Given the description of an element on the screen output the (x, y) to click on. 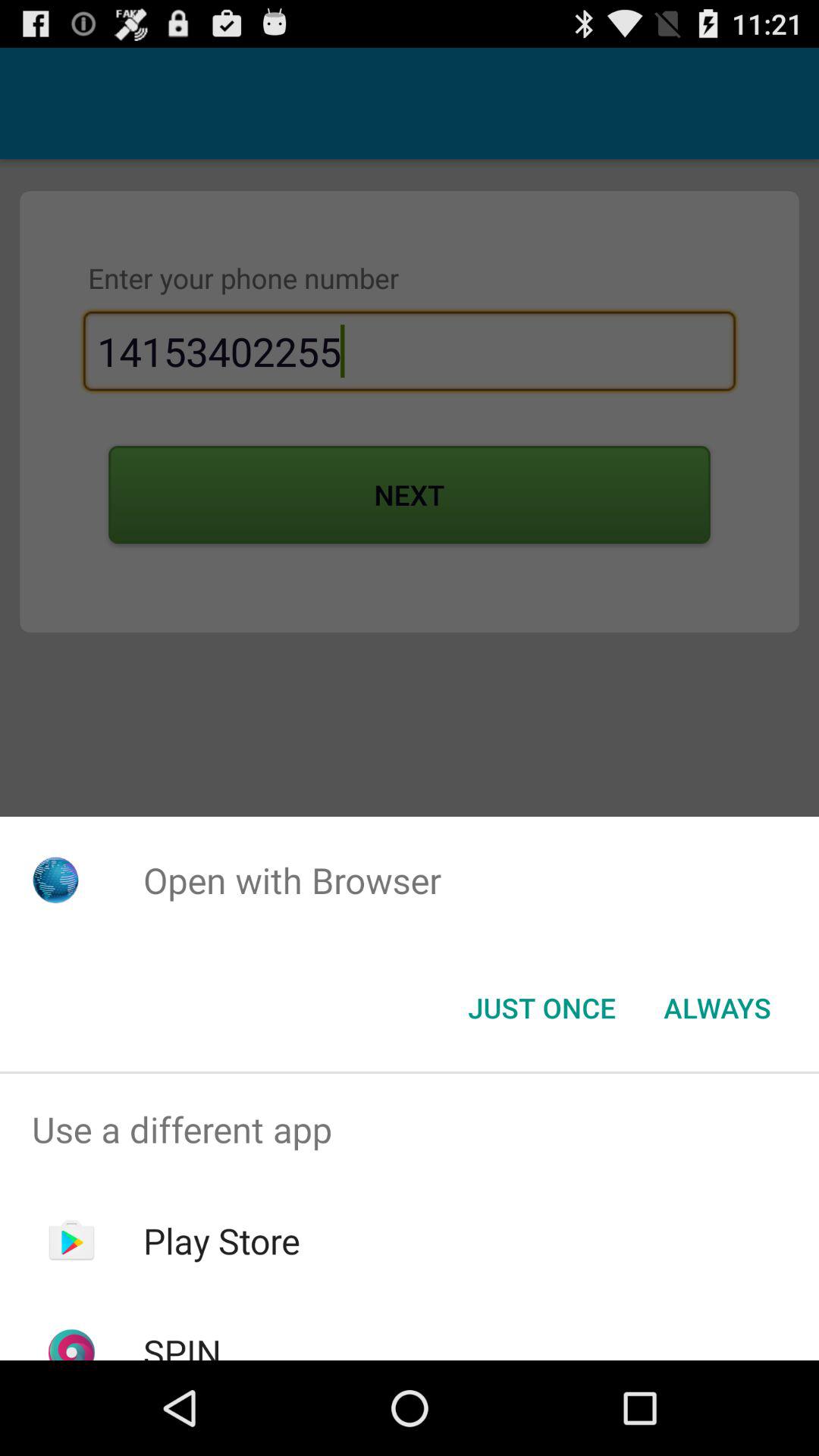
jump to the spin icon (182, 1344)
